Given the description of an element on the screen output the (x, y) to click on. 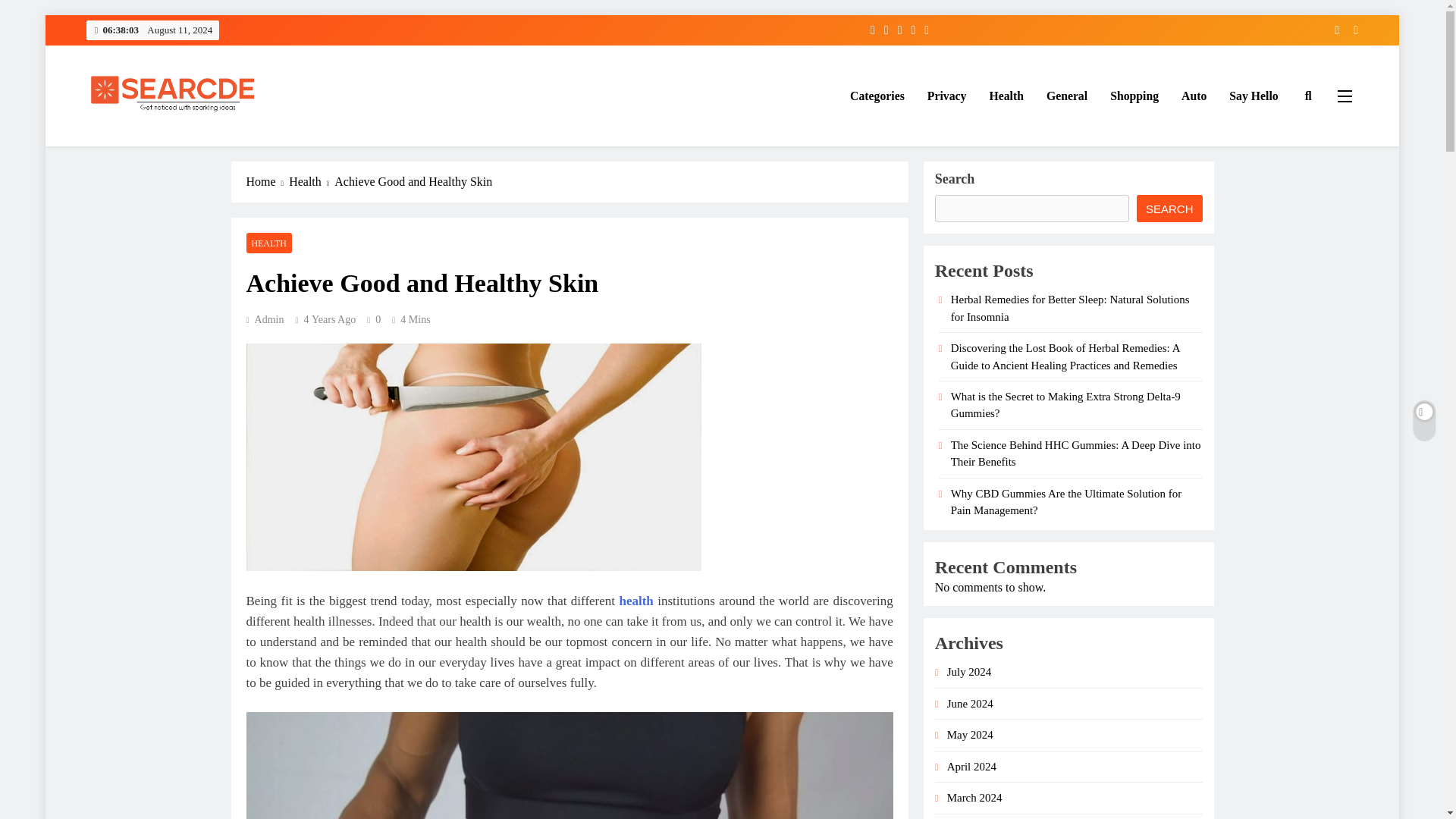
Privacy (946, 96)
Home (267, 181)
SEARCH (1169, 207)
4 Years Ago (330, 319)
Say Hello (1252, 96)
Auto (1193, 96)
Searcde (127, 147)
Health (311, 181)
